Given the description of an element on the screen output the (x, y) to click on. 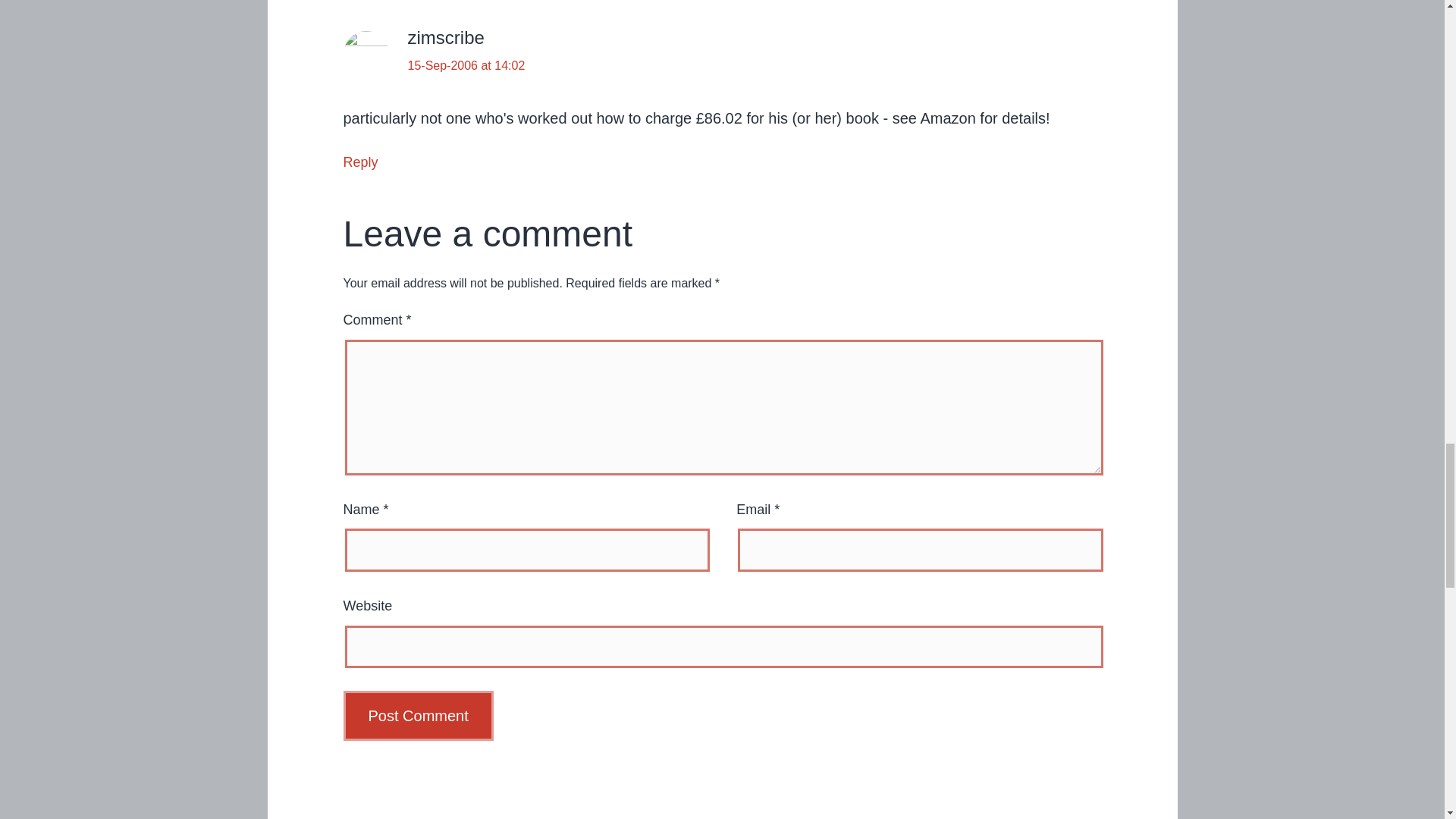
15-Sep-2006 at 14:02 (466, 65)
Reply (359, 161)
Post Comment (417, 716)
Post Comment (417, 716)
